Given the description of an element on the screen output the (x, y) to click on. 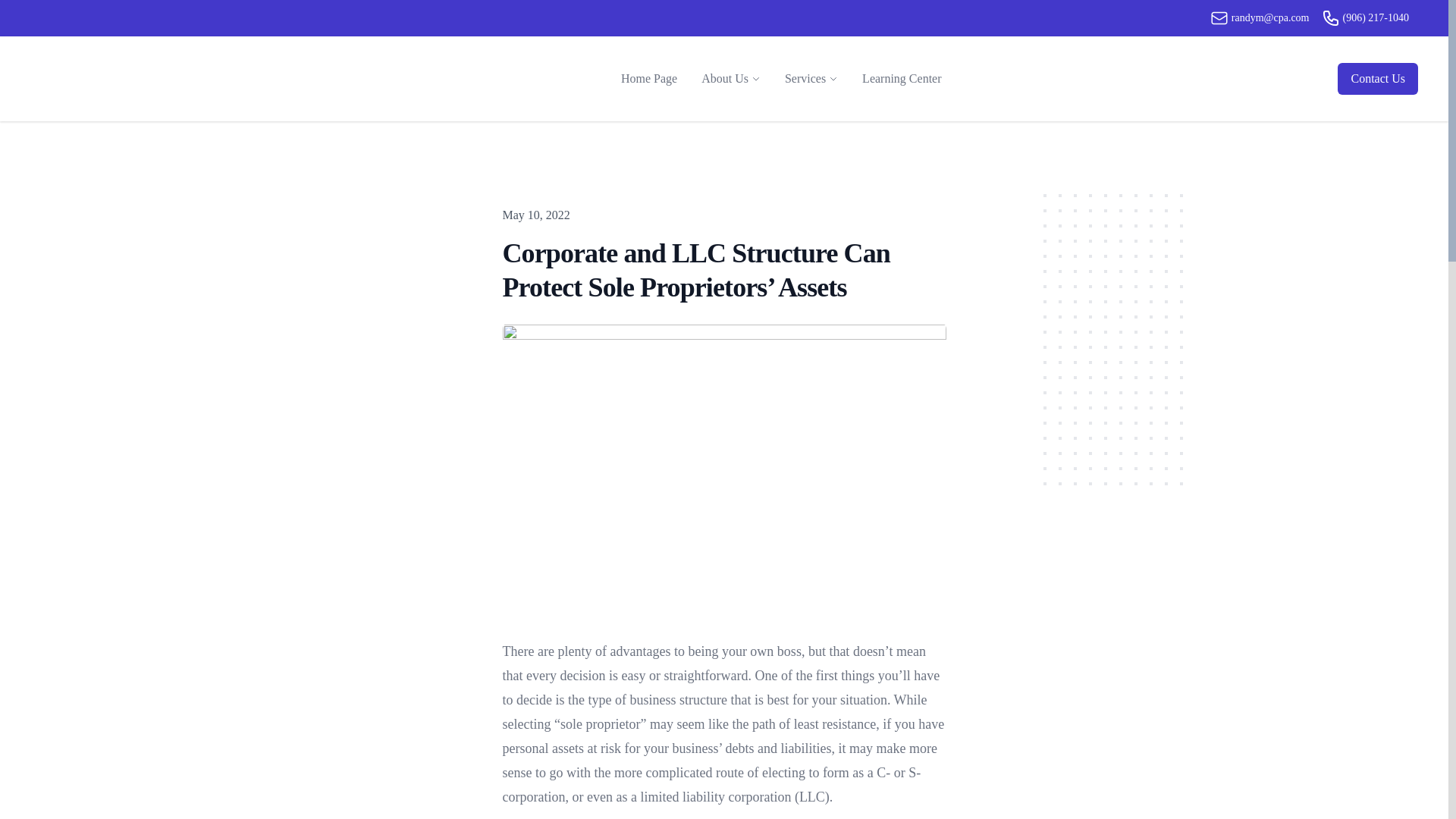
Home Page (648, 78)
Learning Center (901, 78)
Contact Us (1378, 79)
Services (804, 78)
About Us (724, 78)
phone (1329, 18)
Learning Center (901, 78)
Home Page (648, 78)
